Given the description of an element on the screen output the (x, y) to click on. 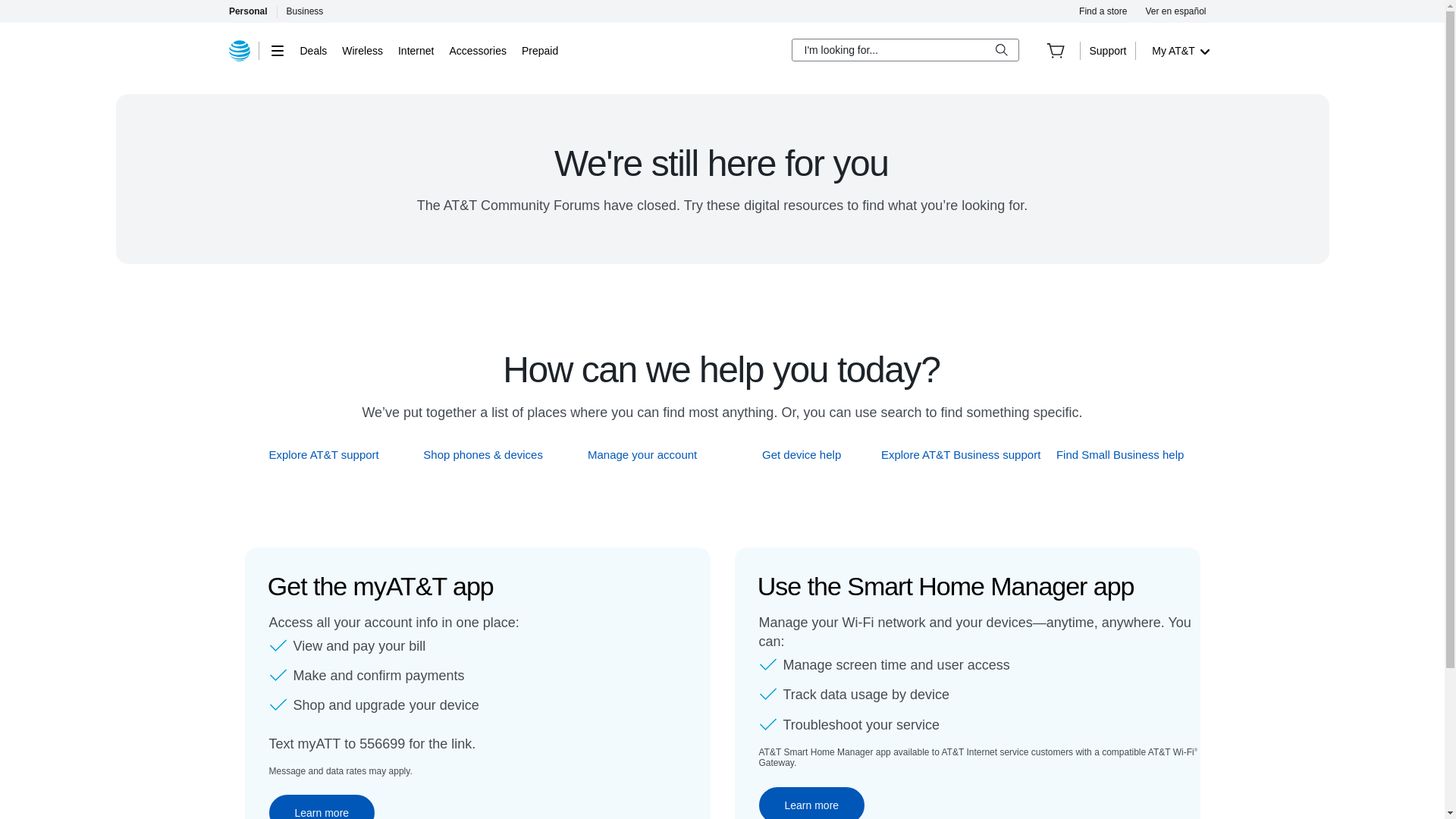
Internet (415, 50)
Personal (247, 10)
Learn more (320, 806)
Wireless (362, 50)
Get device help (801, 454)
Business (305, 10)
Manage your account (642, 454)
Prepaid (539, 50)
Find Small Business help (1121, 454)
Learn more (811, 803)
